Given the description of an element on the screen output the (x, y) to click on. 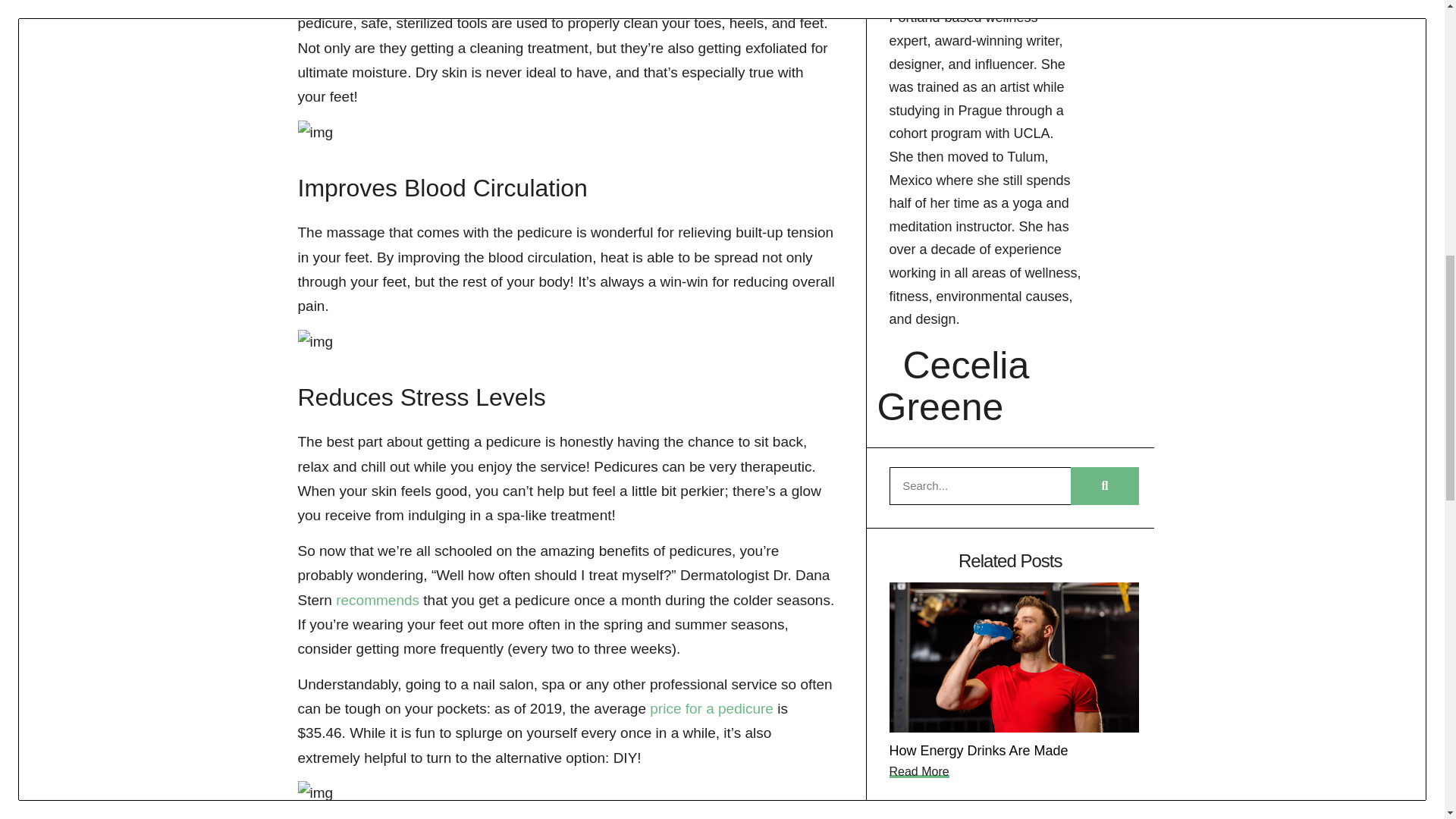
recommends (377, 600)
Search (1104, 485)
Search (979, 485)
How Energy Drinks Are Made (977, 750)
price for a pedicure (711, 708)
Read More (918, 771)
